Given the description of an element on the screen output the (x, y) to click on. 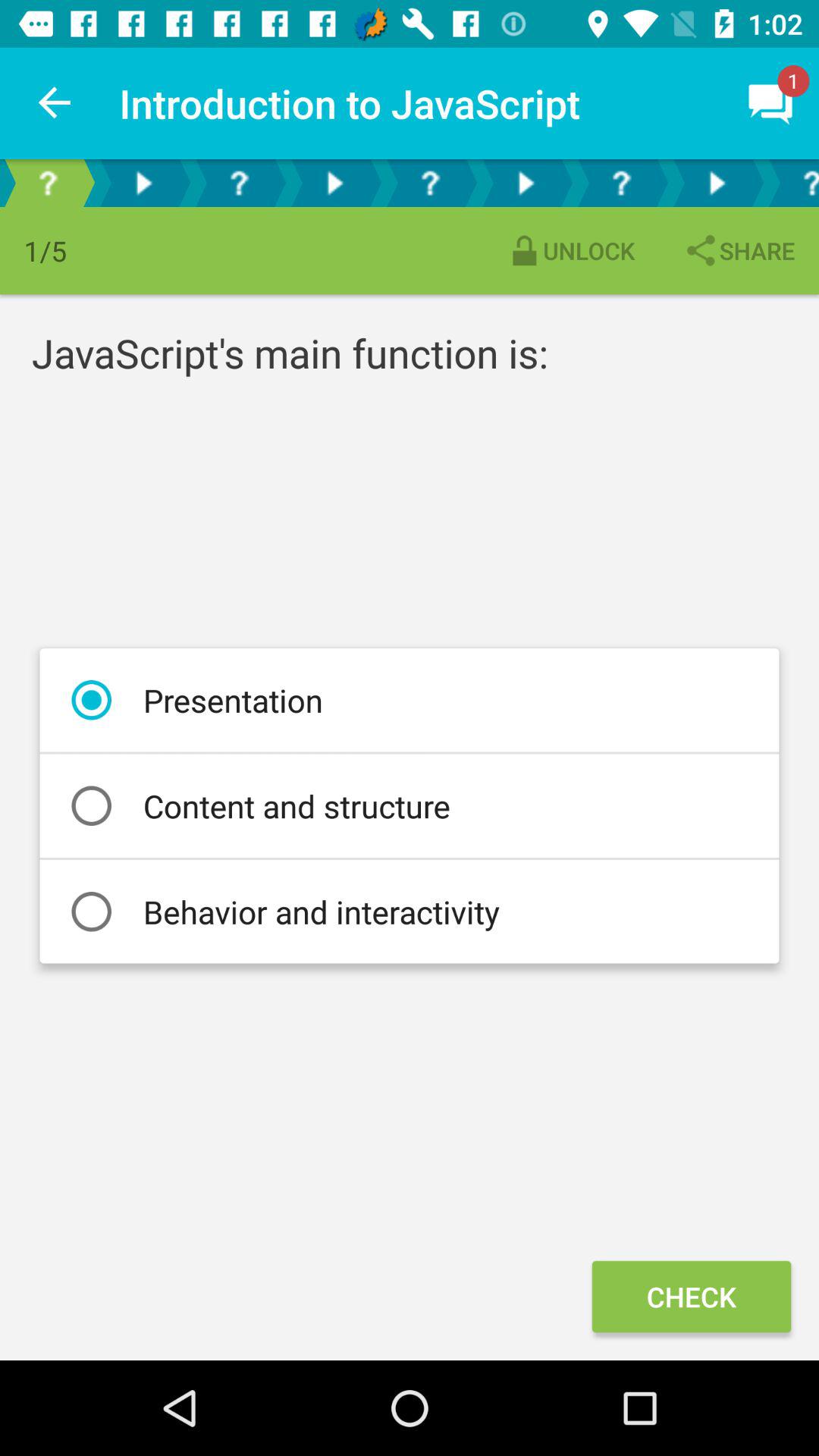
press icon next to share icon (570, 250)
